Given the description of an element on the screen output the (x, y) to click on. 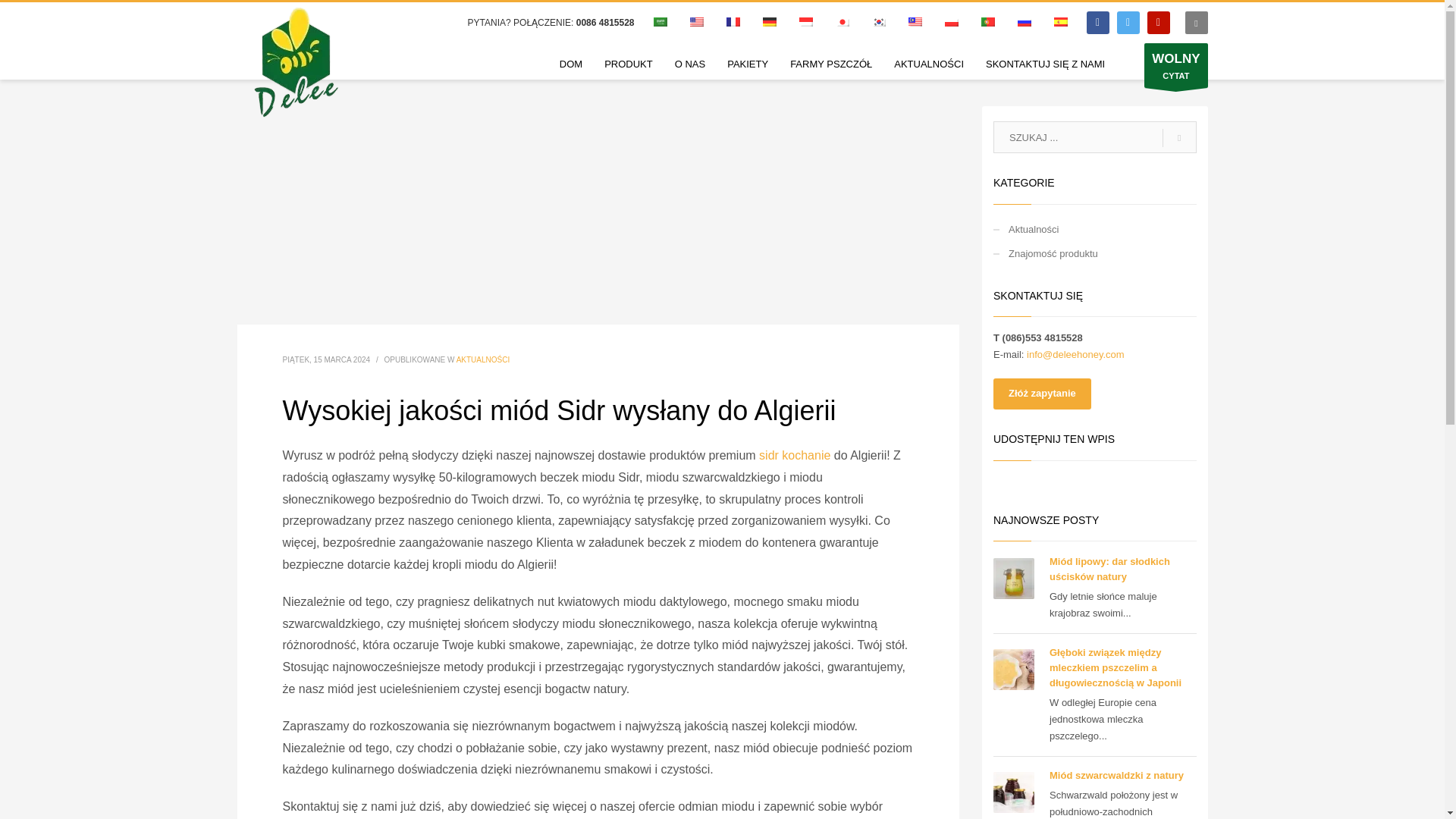
French (732, 21)
Malay (914, 21)
Najlepszy dostawca miodu w Chinach (294, 60)
Korean (878, 21)
Spanish (1060, 21)
Facebook (1097, 22)
Arabic (659, 21)
Polish (951, 21)
youtube (1158, 22)
German (769, 21)
Indonesian (805, 21)
English (696, 21)
Russian (1023, 21)
0086 4815528 (605, 22)
PRODUKT (628, 63)
